Given the description of an element on the screen output the (x, y) to click on. 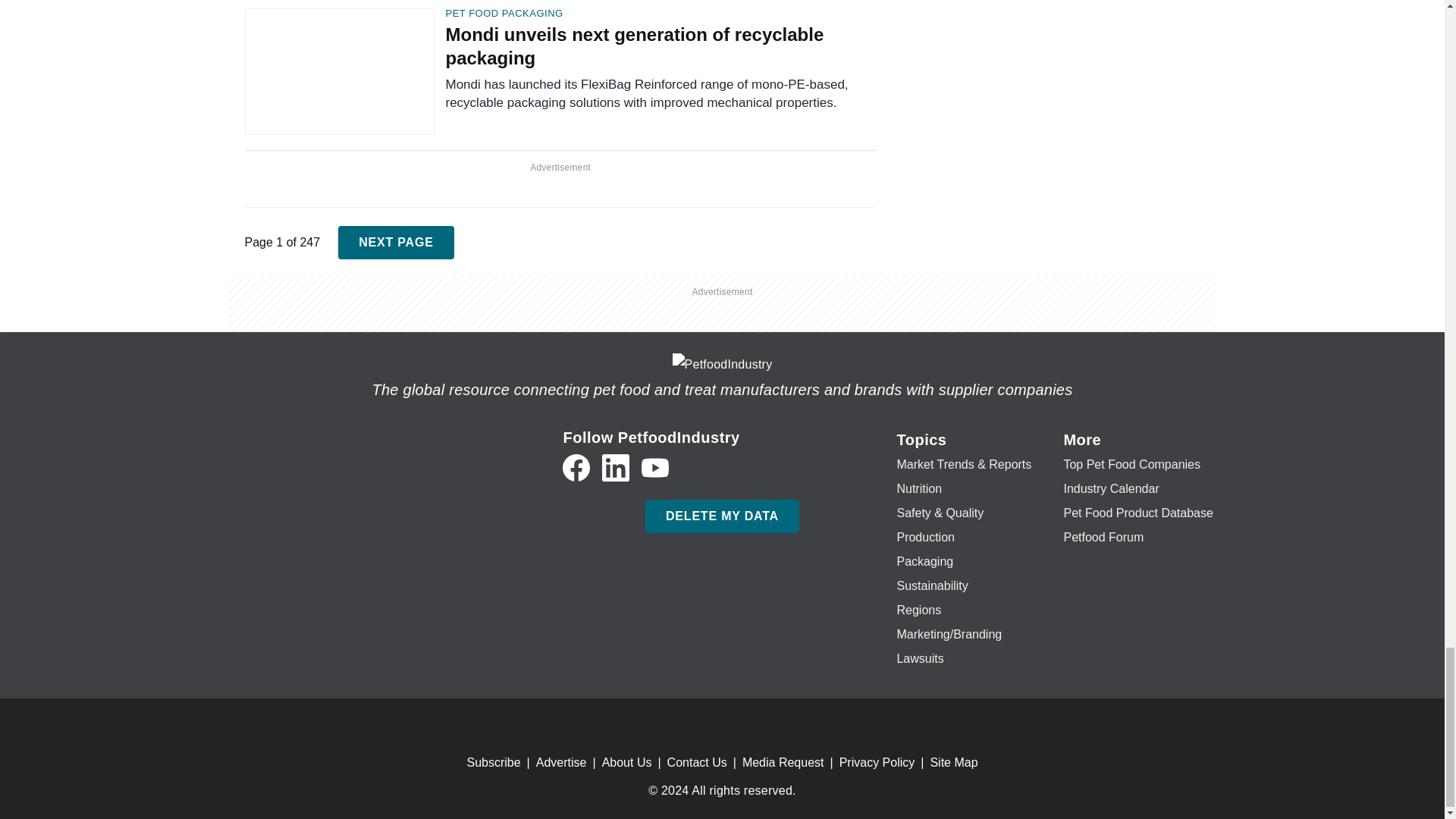
YouTube icon (655, 467)
LinkedIn icon (615, 467)
Facebook icon (575, 467)
